Given the description of an element on the screen output the (x, y) to click on. 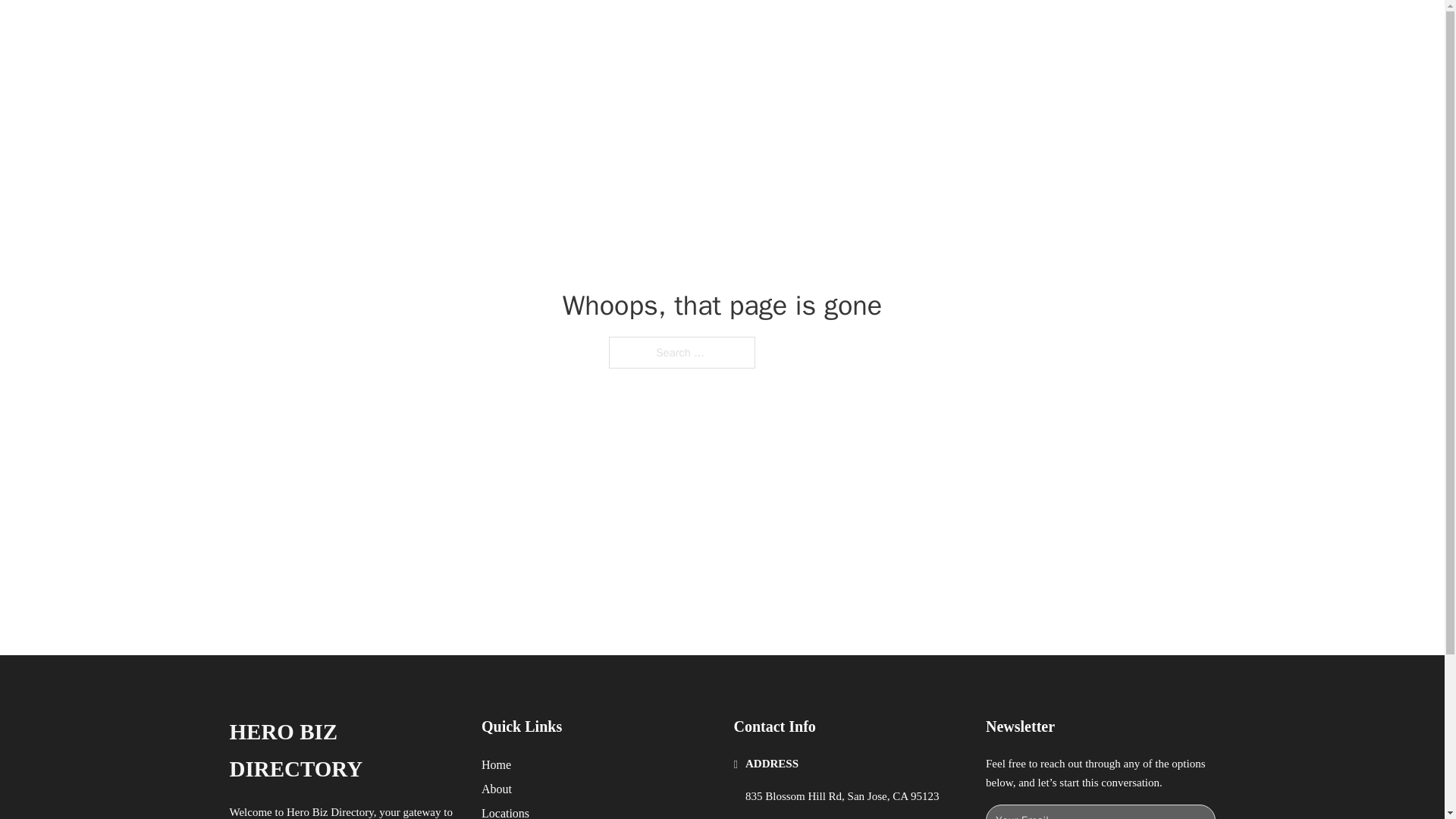
HERO BIZ DIRECTORY (343, 750)
HERO BIZ DIRECTORY (417, 28)
LOCATIONS (990, 29)
Home (496, 764)
About (496, 788)
Locations (505, 811)
HOME (919, 29)
